Given the description of an element on the screen output the (x, y) to click on. 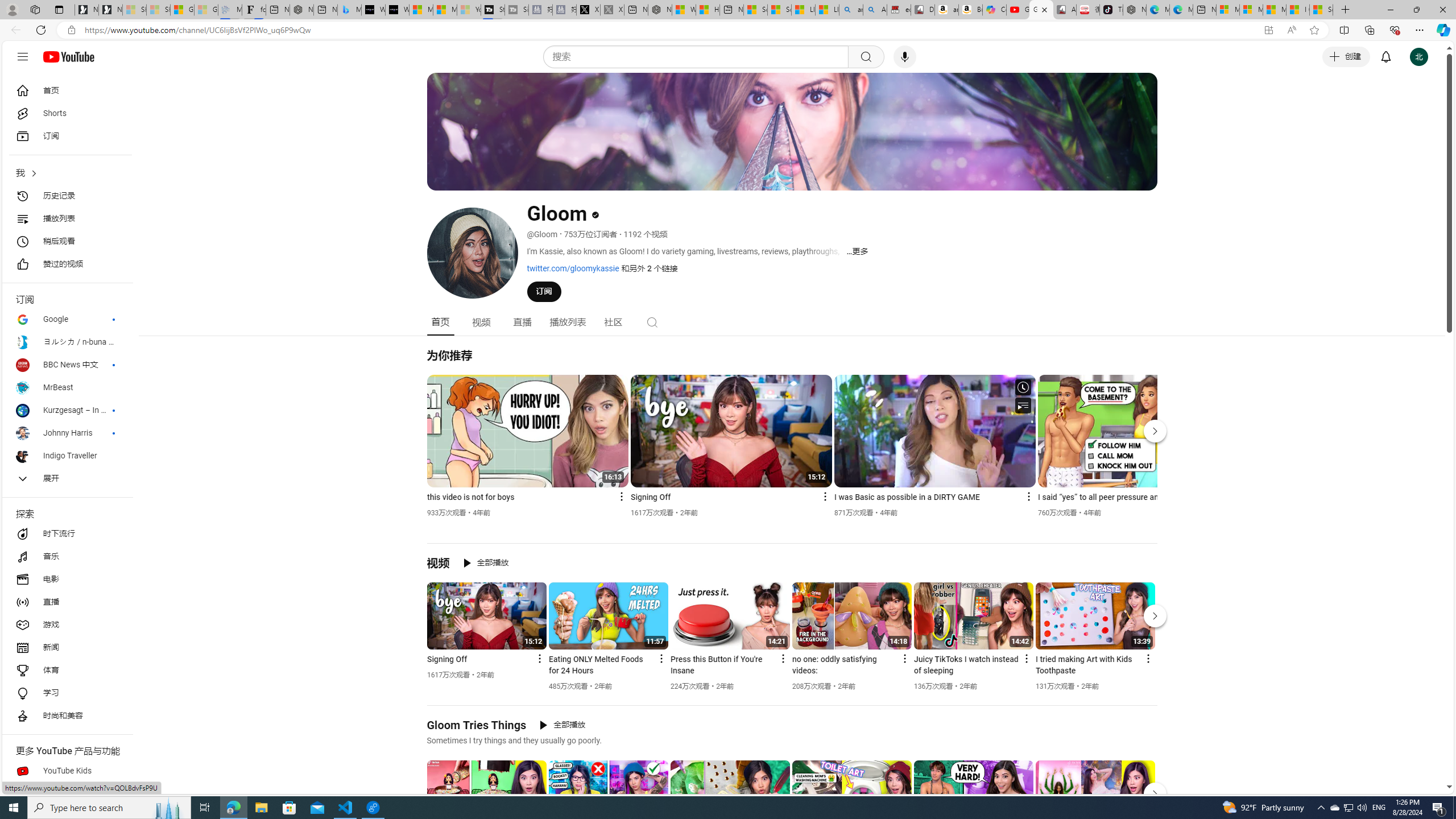
TikTok (1111, 9)
